Given the description of an element on the screen output the (x, y) to click on. 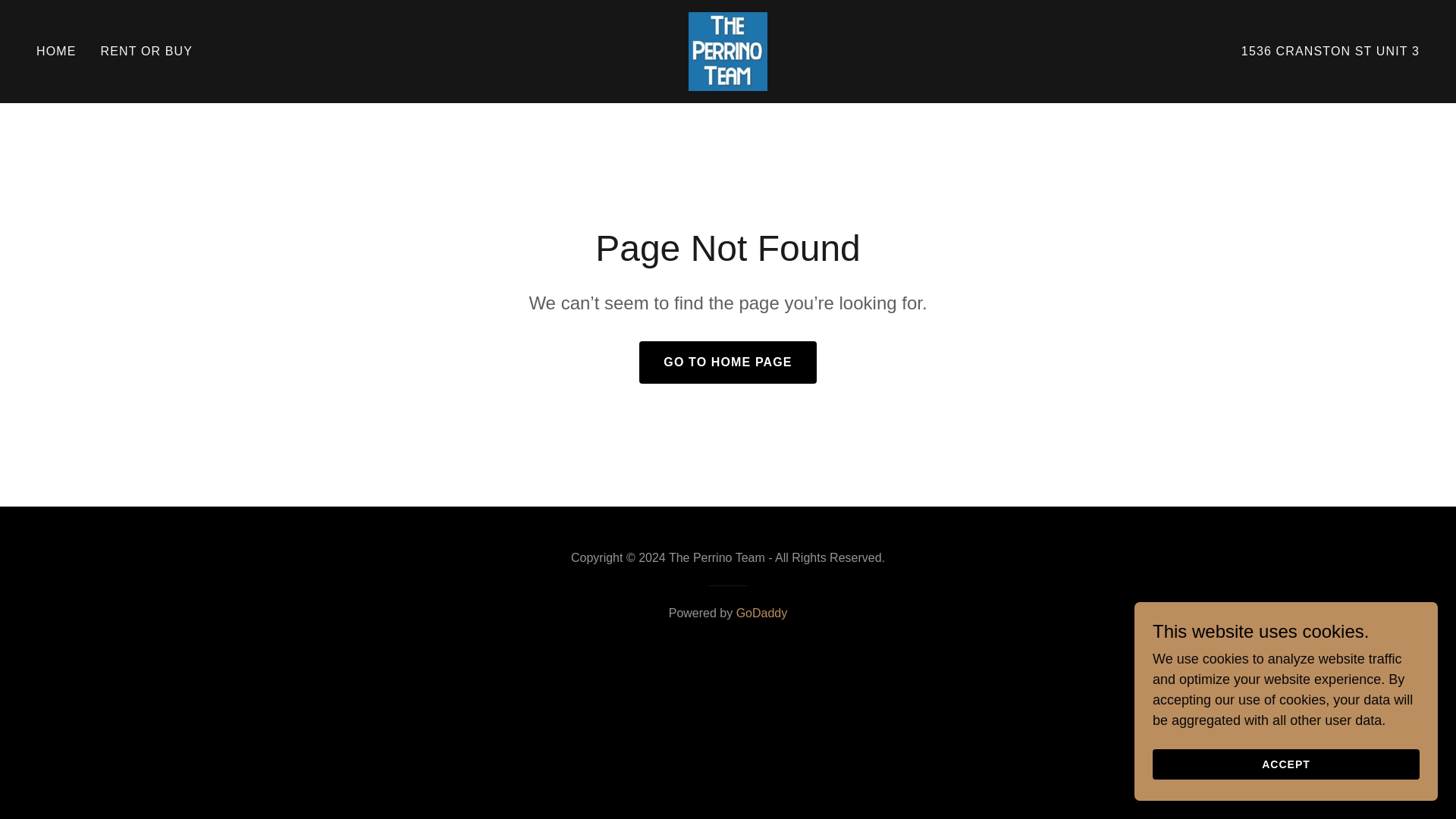
HOME (56, 51)
1536 CRANSTON ST UNIT 3 (1329, 51)
ACCEPT (1286, 764)
The Perrino Team (727, 50)
RENT OR BUY (147, 51)
GoDaddy (761, 612)
GO TO HOME PAGE (727, 362)
